Given the description of an element on the screen output the (x, y) to click on. 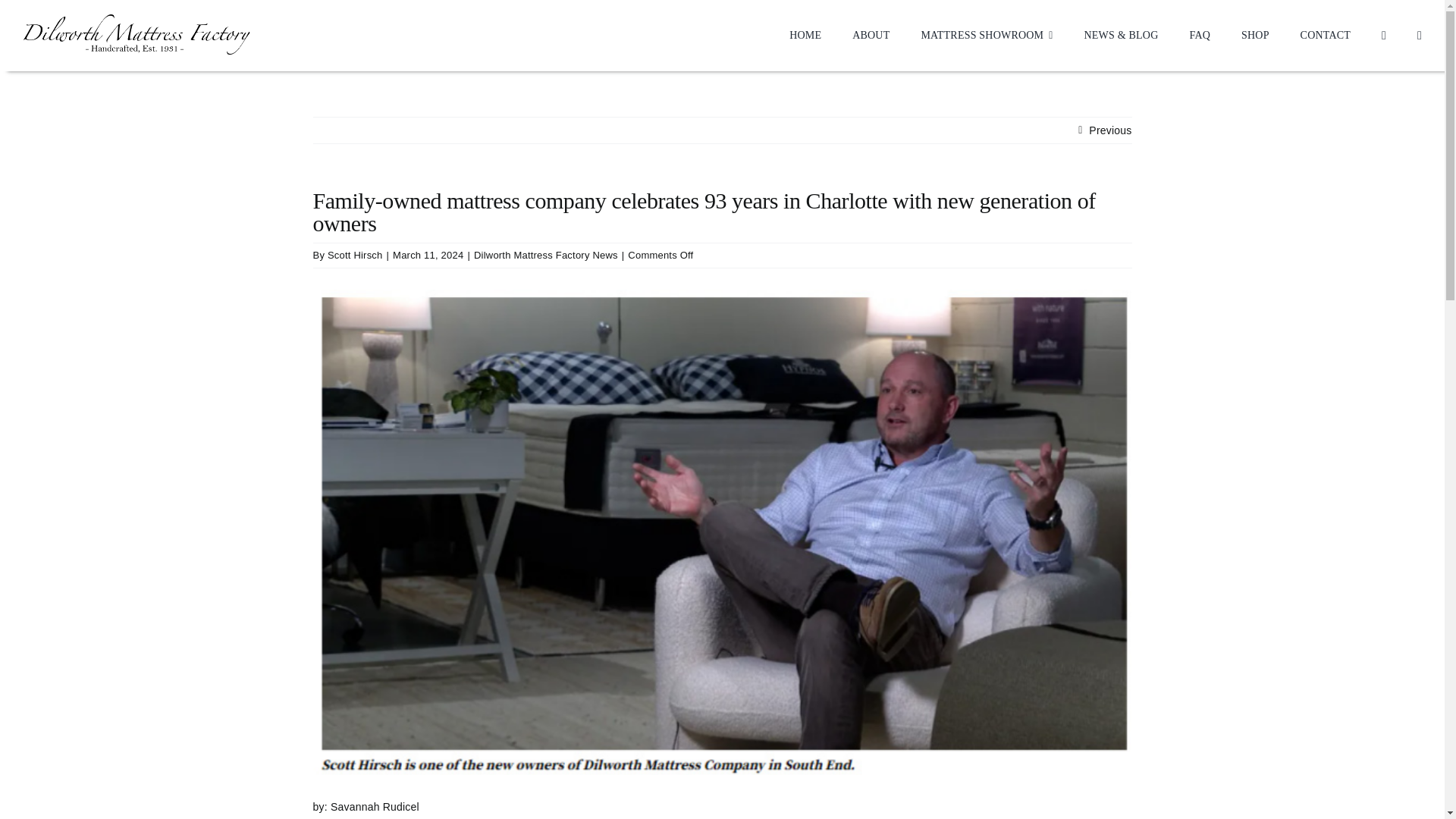
CONTACT (1325, 35)
MATTRESS SHOWROOM (986, 35)
Posts by Savannah Rudicel (374, 806)
Posts by Scott Hirsch (354, 255)
